Given the description of an element on the screen output the (x, y) to click on. 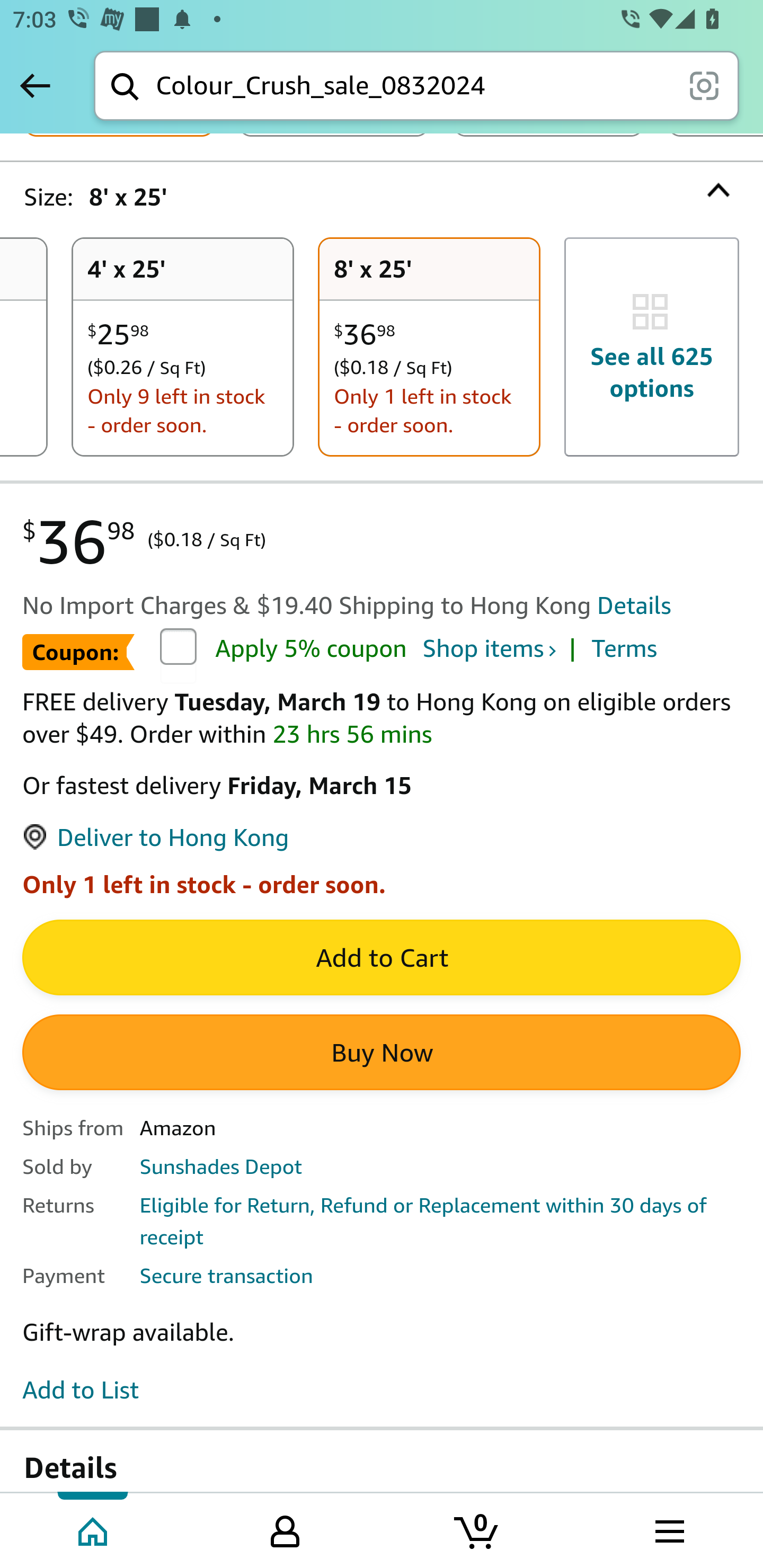
Back (35, 85)
Search Search Colour_Crush_sale_0832024 scan it (416, 85)
scan it (704, 85)
Details (633, 605)
Shop items (488, 650)
Terms (624, 650)
Deliver to Hong Kong (155, 838)
Add to Cart (381, 958)
Buy Now (381, 1054)
Sunshades Depot (220, 1167)
Add to List (80, 1391)
Home Tab 1 of 4 (94, 1529)
Your Amazon.com Tab 2 of 4 (285, 1529)
Cart 0 item Tab 3 of 4 0 (477, 1529)
Browse menu Tab 4 of 4 (668, 1529)
